Given the description of an element on the screen output the (x, y) to click on. 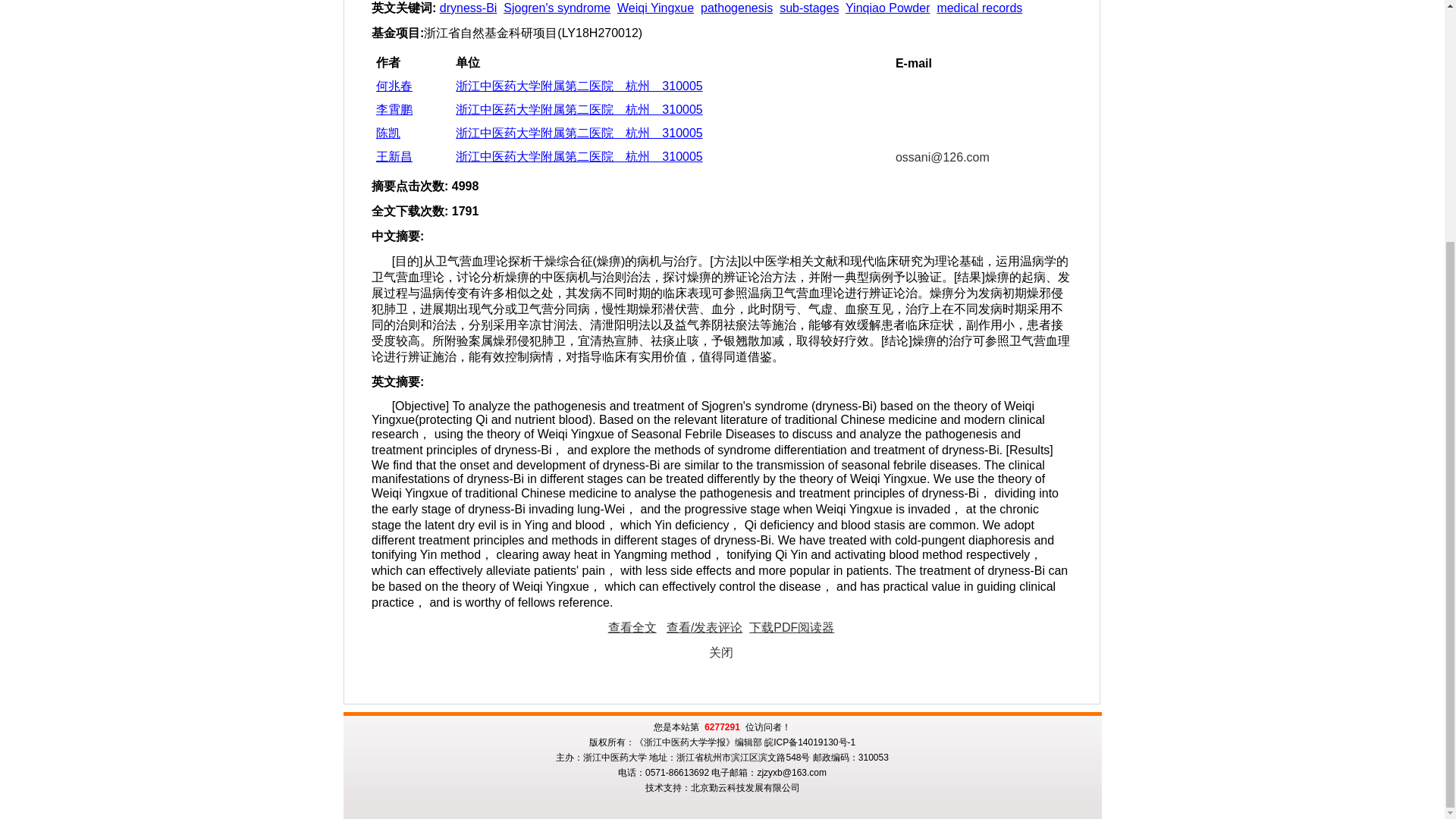
pathogenesis (736, 7)
Yinqiao Powder (887, 7)
medical records (979, 7)
sub-stages (808, 7)
Sjogren's syndrome (556, 7)
Weiqi Yingxue (655, 7)
dryness-Bi (468, 7)
